Given the description of an element on the screen output the (x, y) to click on. 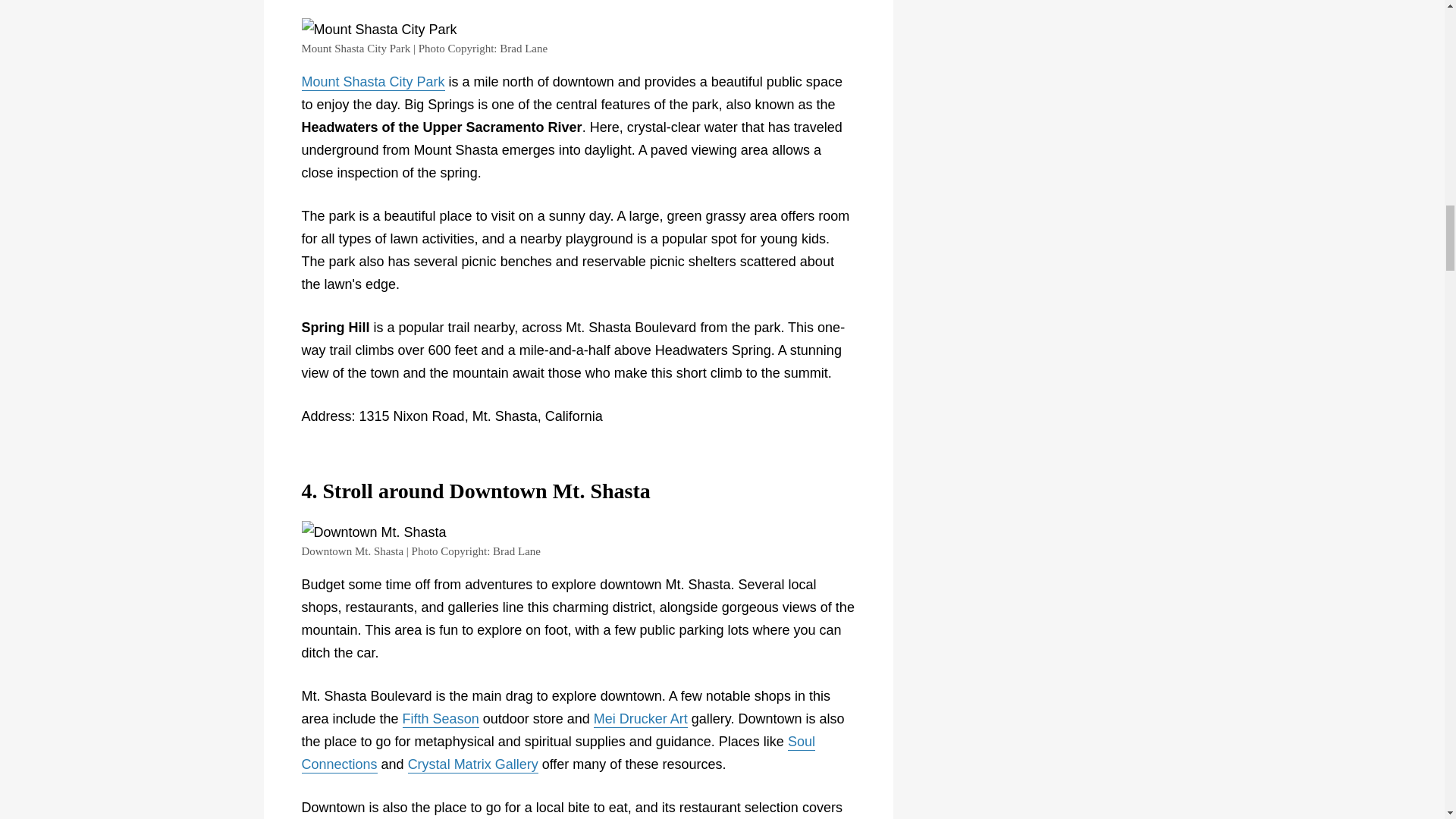
Fifth Season (441, 719)
Mount Shasta City Park (373, 82)
